Given the description of an element on the screen output the (x, y) to click on. 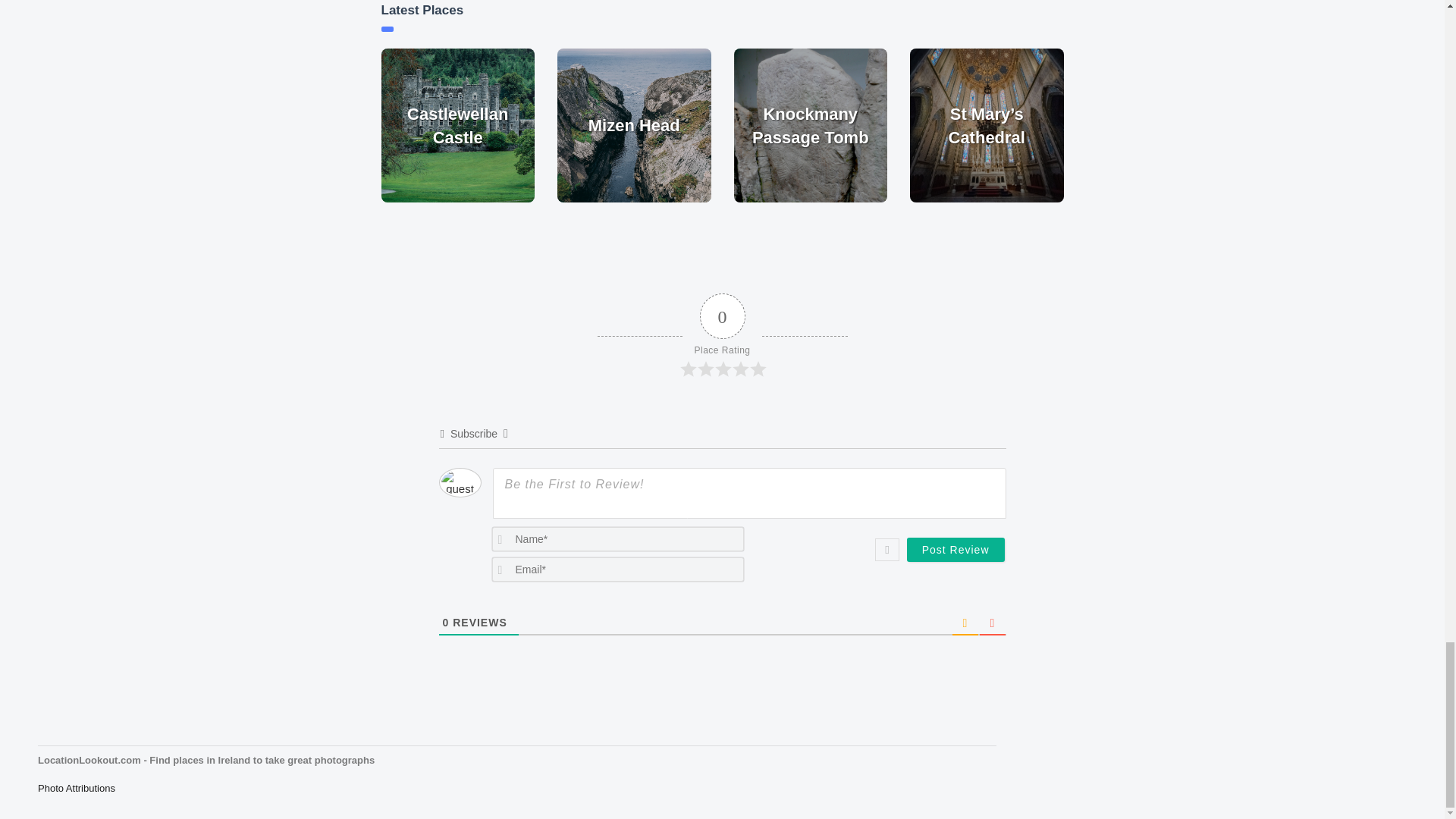
0 (445, 622)
Post Review (955, 549)
Attributions (76, 787)
